Given the description of an element on the screen output the (x, y) to click on. 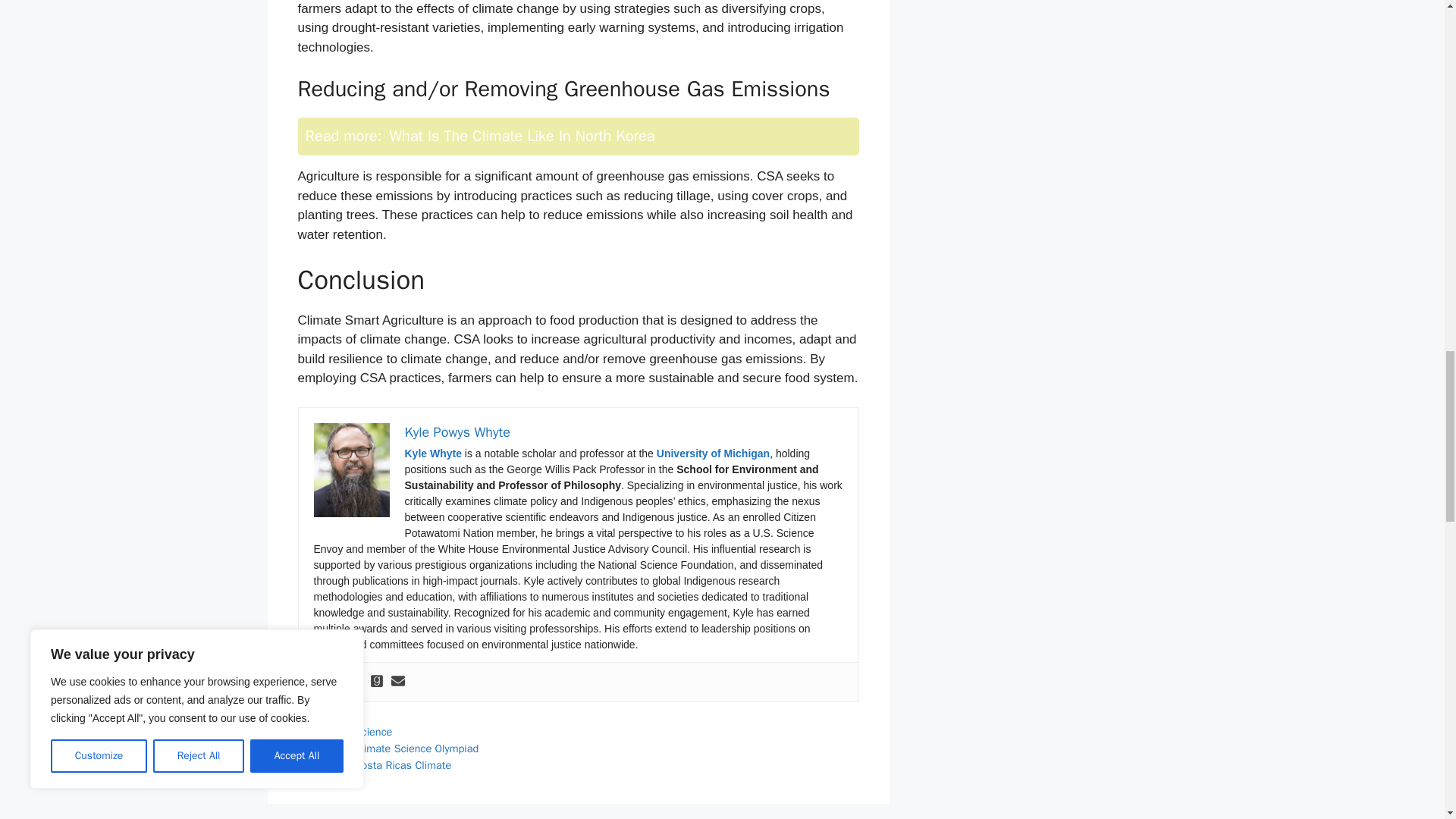
University of Michigan (713, 453)
Twitter (355, 682)
Kyle Whyte (432, 453)
Goodreads (376, 682)
User email (397, 682)
Linkedin (333, 682)
Read more:What Is The Climate Like In North Korea (578, 136)
Google (312, 682)
Kyle Powys Whyte (457, 432)
What Is Climate Smart Agriculture (352, 469)
